Given the description of an element on the screen output the (x, y) to click on. 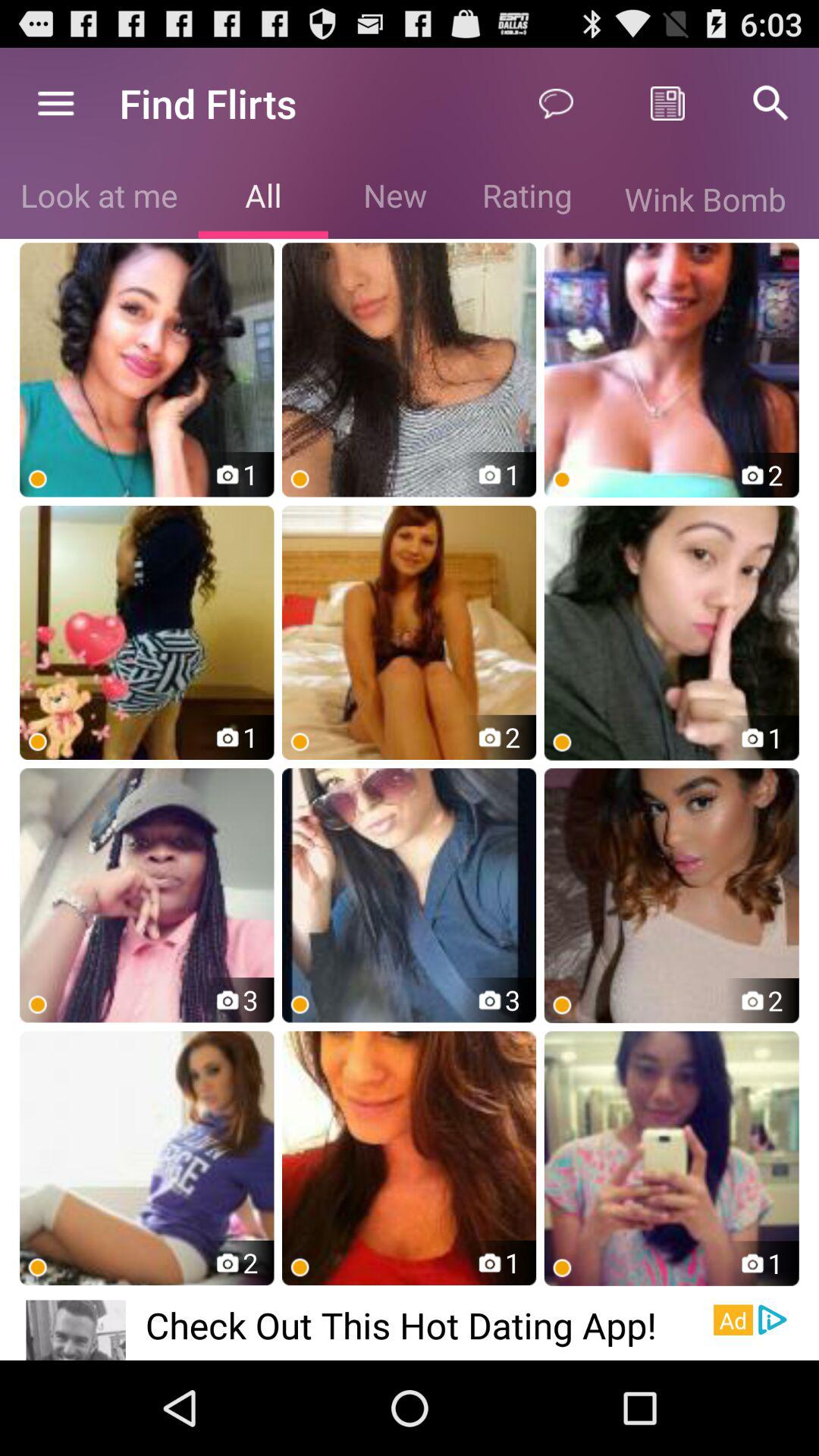
choose the icon next to find flirts item (55, 103)
